Given the description of an element on the screen output the (x, y) to click on. 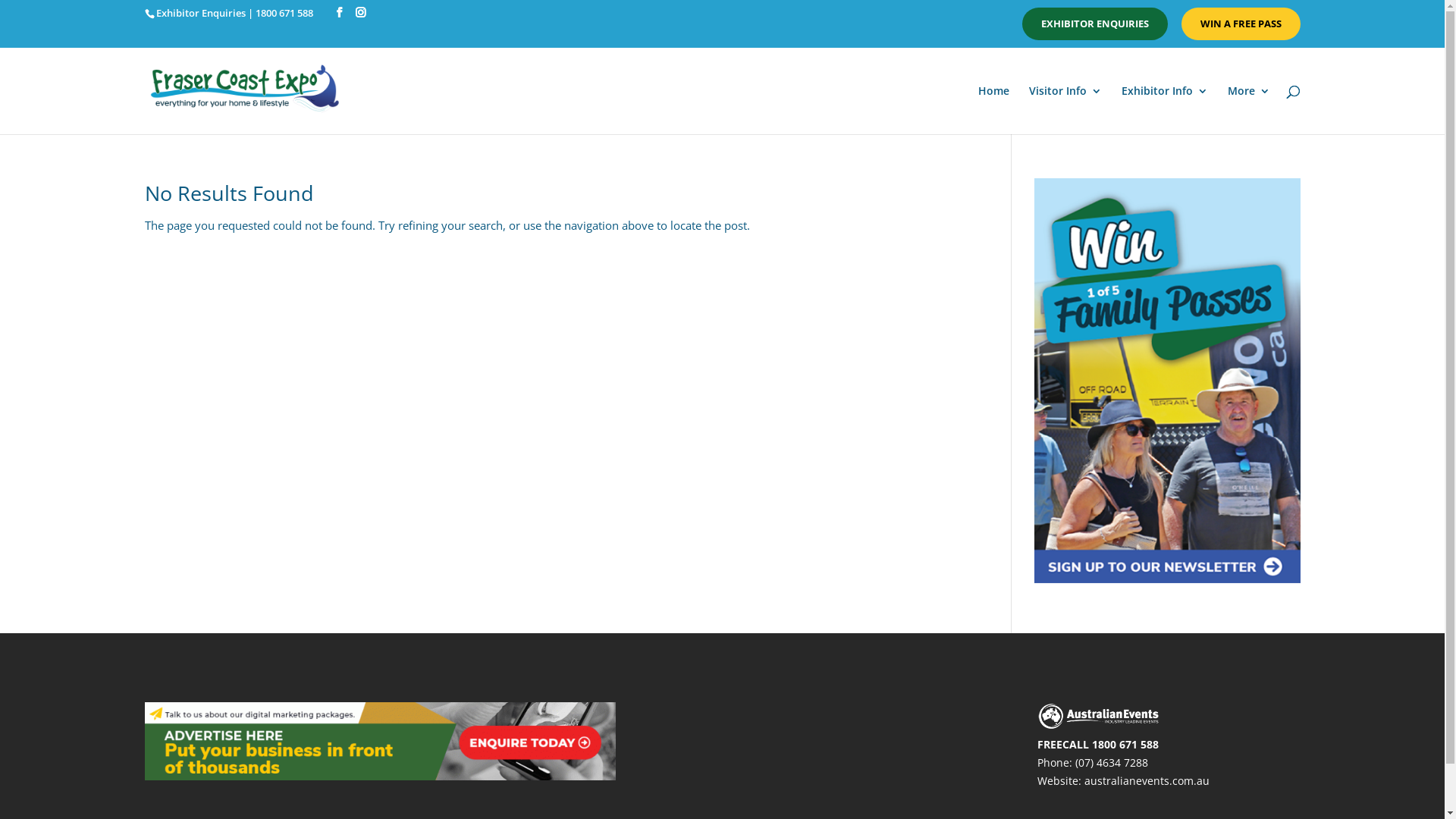
(07) 4634 7288 Element type: text (1111, 762)
EXHIBITOR ENQUIRIES Element type: text (1094, 23)
More Element type: text (1247, 109)
Visitor Info Element type: text (1064, 109)
australianevents.com.au Element type: text (1146, 780)
1800 671 588 Element type: text (1125, 744)
WIN A FREE PASS Element type: text (1240, 23)
Home Element type: text (993, 109)
Exhibitor Info Element type: text (1163, 109)
